Given the description of an element on the screen output the (x, y) to click on. 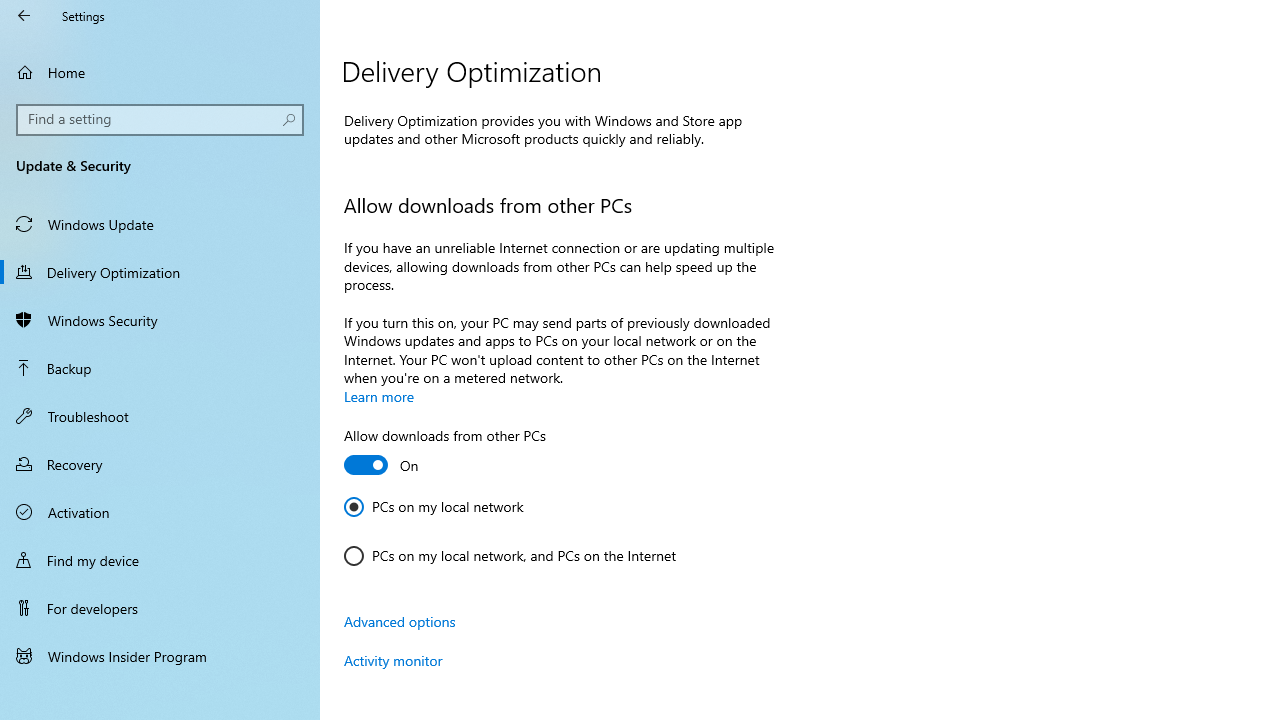
Advanced options (399, 621)
Learn more (379, 396)
Recovery (160, 463)
Activation (160, 511)
